Given the description of an element on the screen output the (x, y) to click on. 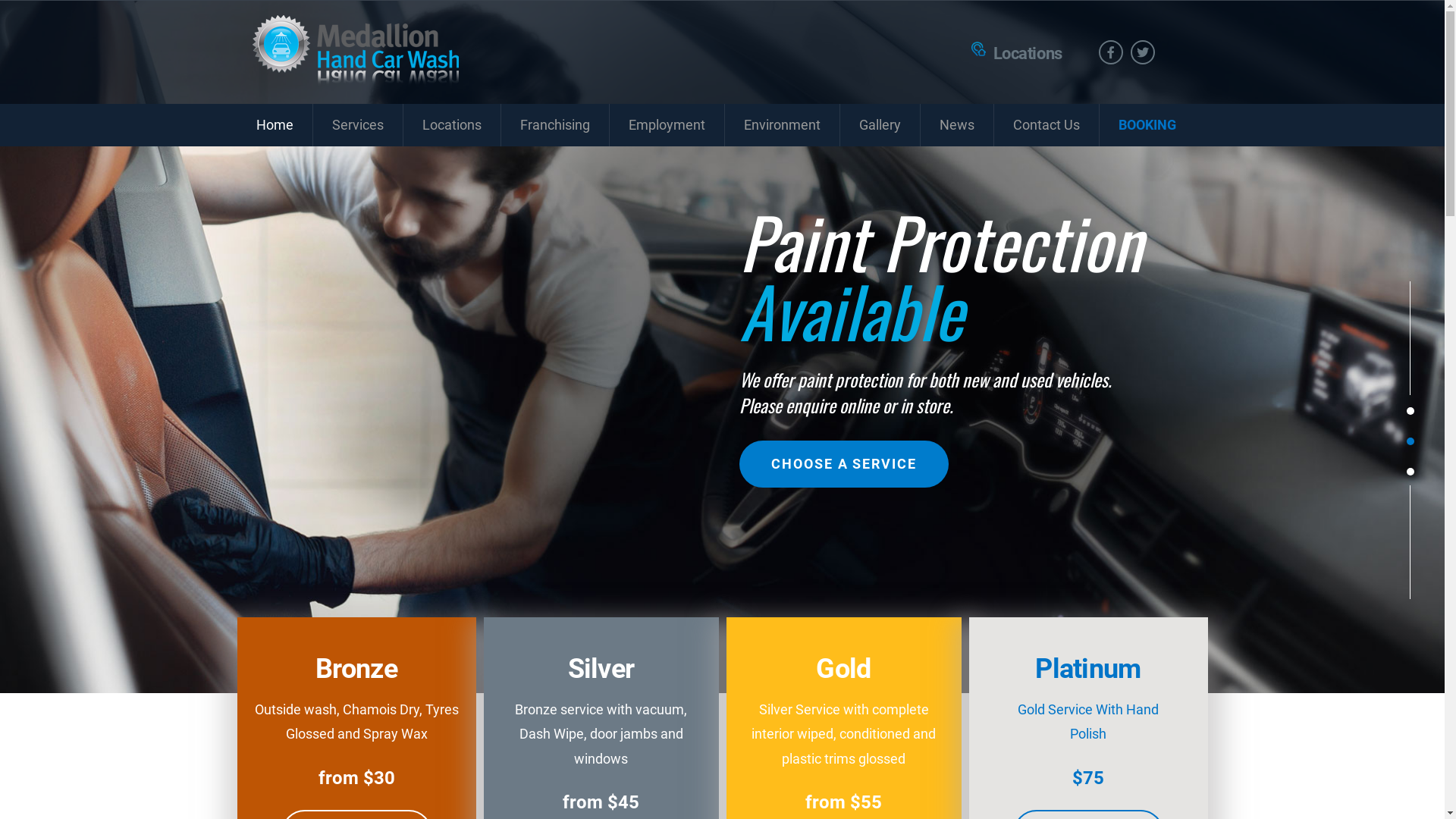
Contact Us Element type: text (1045, 124)
Gallery Element type: text (879, 124)
Home Element type: text (273, 124)
Environment Element type: text (781, 124)
Locations Element type: text (1027, 52)
Employment Element type: text (666, 124)
News Element type: text (956, 124)
Locations Element type: text (451, 124)
Services Element type: text (356, 124)
BOOKING Element type: text (1147, 124)
Franchising Element type: text (554, 124)
